Given the description of an element on the screen output the (x, y) to click on. 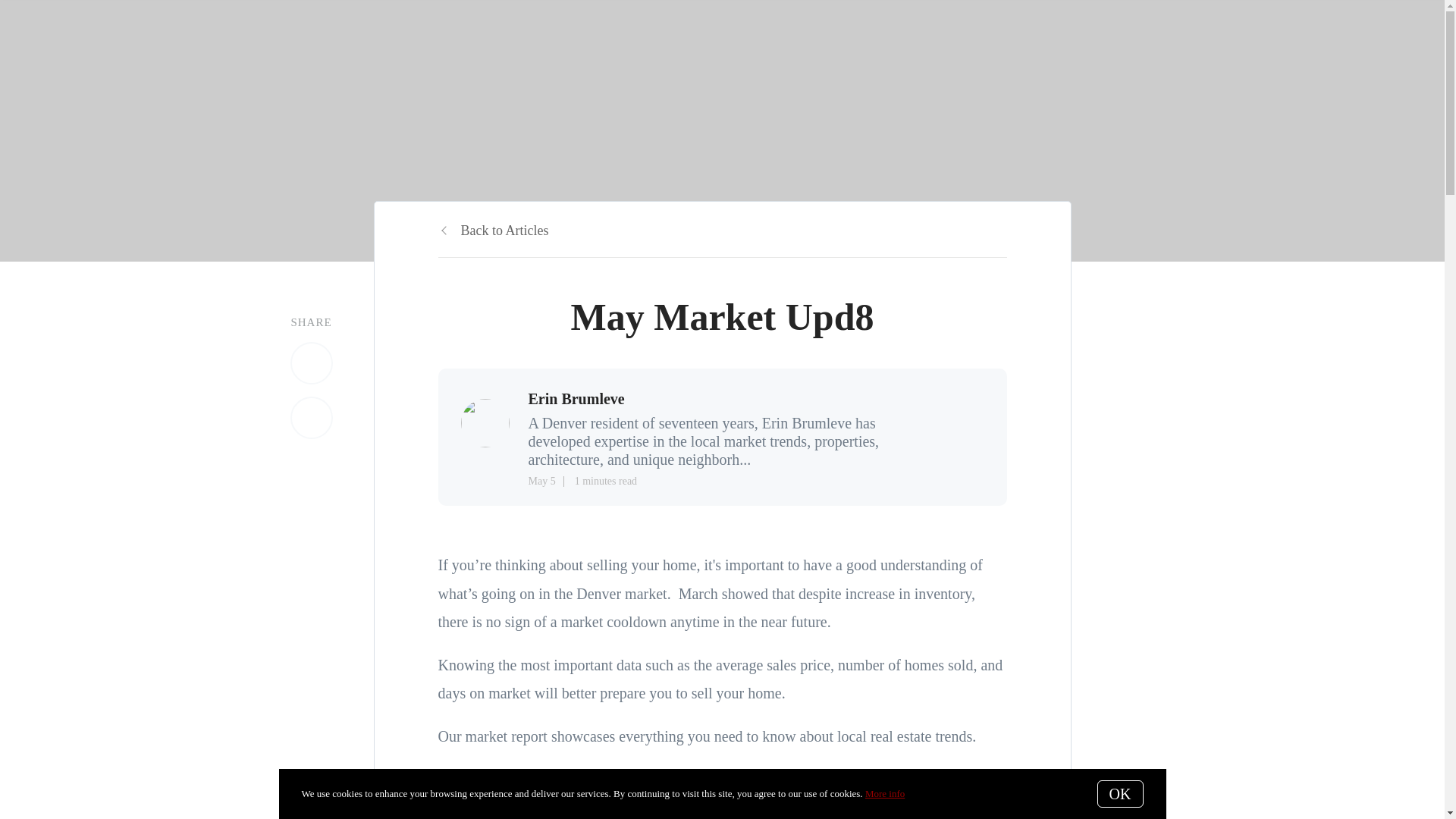
Back to Articles (493, 230)
